Given the description of an element on the screen output the (x, y) to click on. 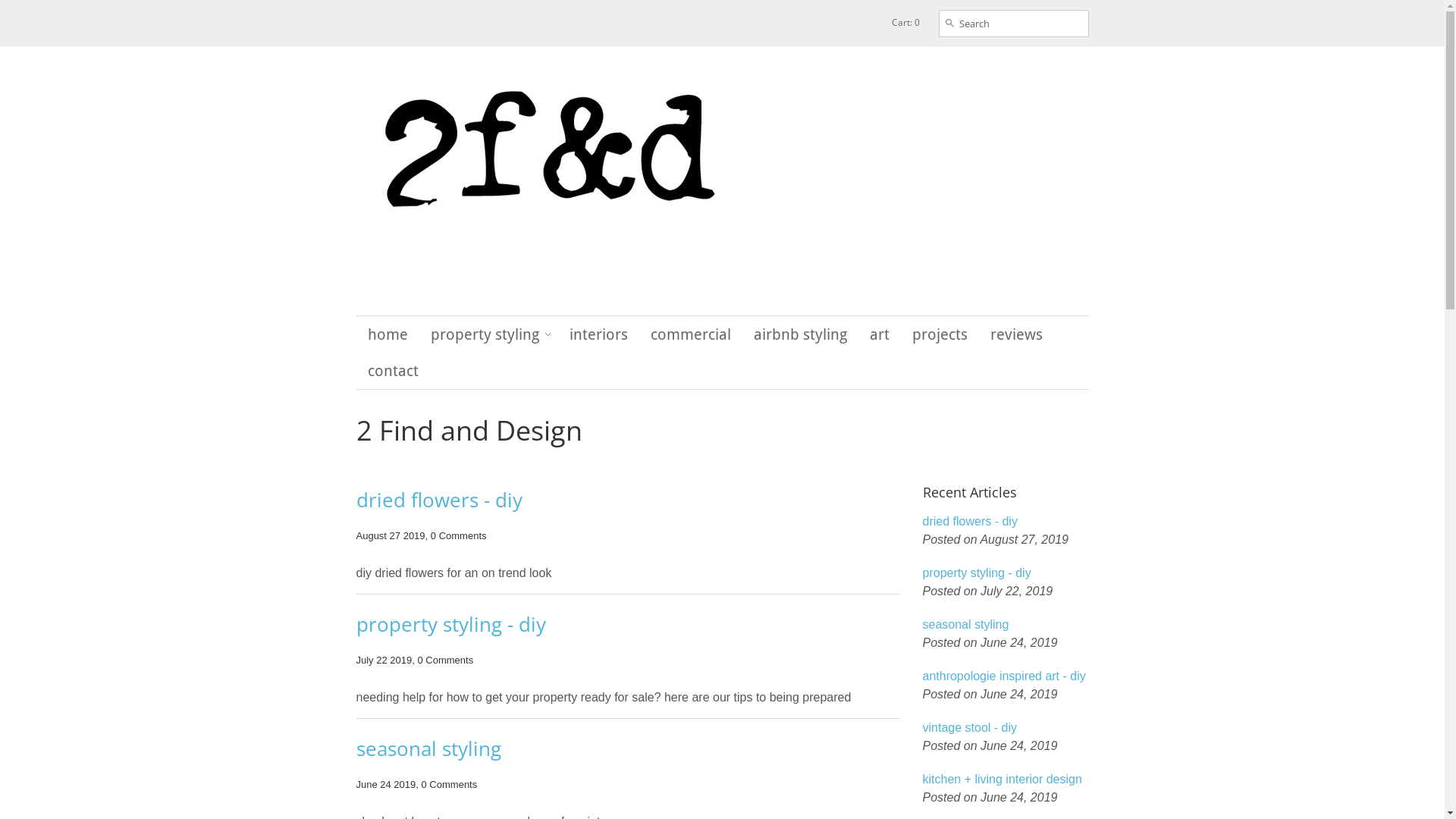
interiors Element type: text (598, 334)
commercial Element type: text (689, 334)
dried flowers - diy Element type: text (628, 499)
property styling - diy Element type: text (1005, 573)
airbnb styling Element type: text (799, 334)
seasonal styling Element type: text (628, 748)
property styling Element type: text (483, 334)
Cart: 0 Element type: text (905, 21)
contact Element type: text (392, 370)
home Element type: text (387, 334)
property styling - diy Element type: text (628, 623)
seasonal styling Element type: text (1005, 624)
vintage stool - diy Element type: text (1005, 727)
anthropologie inspired art - diy Element type: text (1005, 676)
reviews Element type: text (1015, 334)
dried flowers - diy Element type: text (1005, 521)
art Element type: text (879, 334)
projects Element type: text (939, 334)
kitchen + living interior design Element type: text (1005, 779)
